Given the description of an element on the screen output the (x, y) to click on. 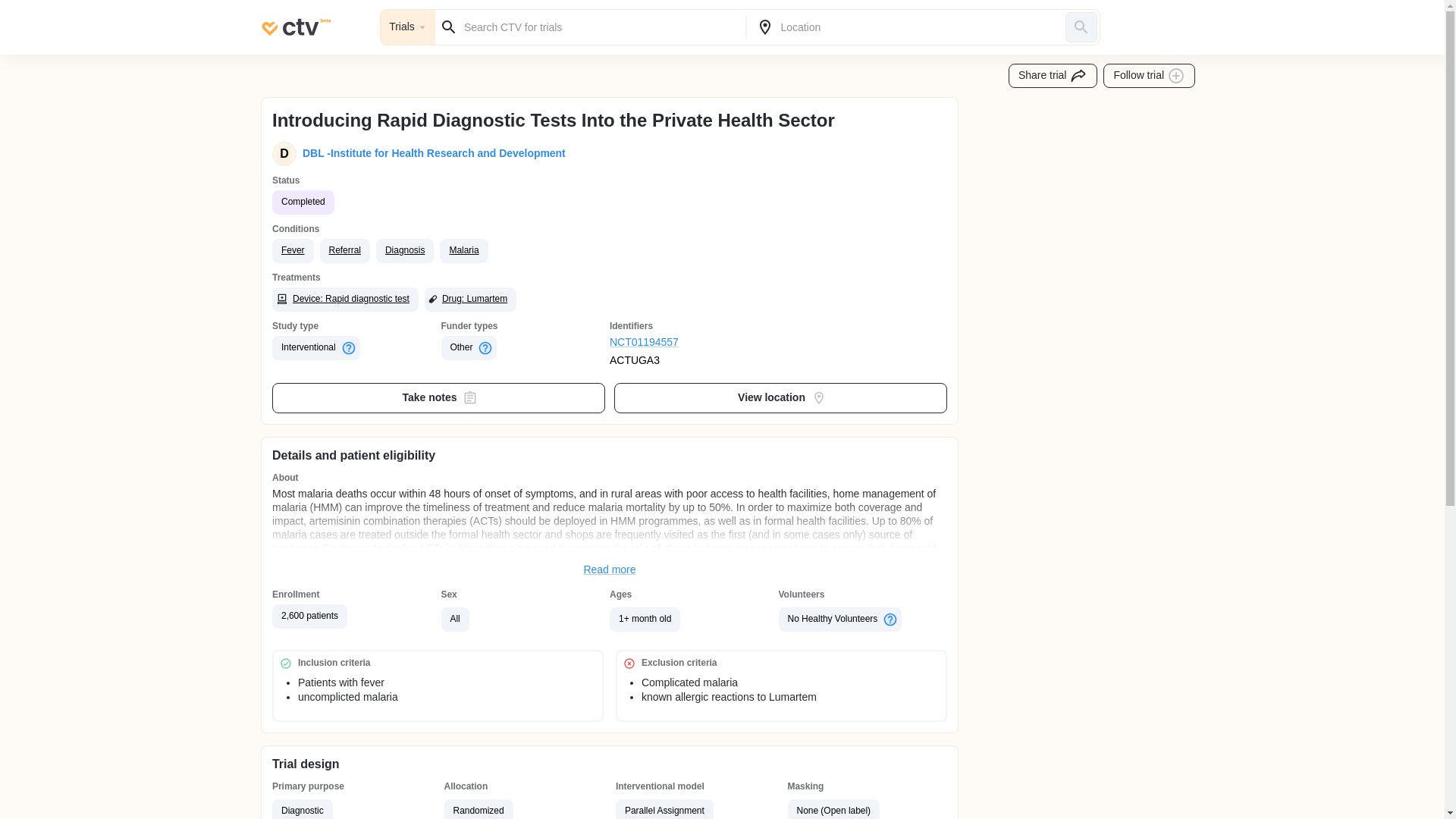
NCT01194557 (694, 342)
View location (780, 398)
Read more (609, 570)
Take notes (438, 398)
Trials (407, 27)
Share trial (1053, 75)
Follow trial (1149, 75)
DBL -Institute for Health Research and Development (431, 153)
